Given the description of an element on the screen output the (x, y) to click on. 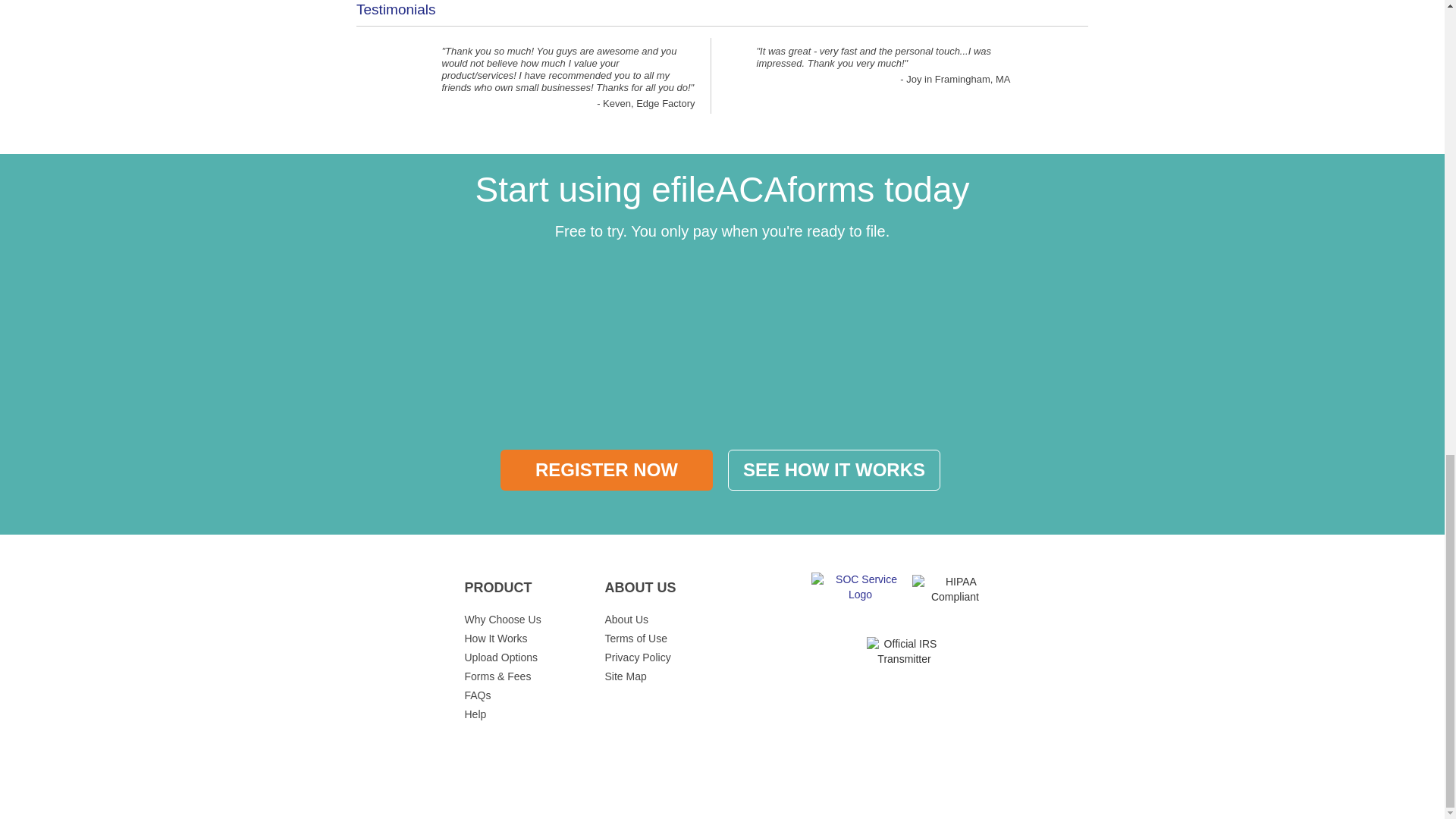
REGISTER NOW (606, 469)
How It Works (495, 638)
Site Map (625, 676)
Upload Options (500, 657)
Privacy Policy (638, 657)
SEE HOW IT WORKS (834, 469)
FAQs (477, 695)
Terms of Use (635, 638)
Help (475, 714)
Why Choose Us (502, 619)
About Us (627, 619)
